Given the description of an element on the screen output the (x, y) to click on. 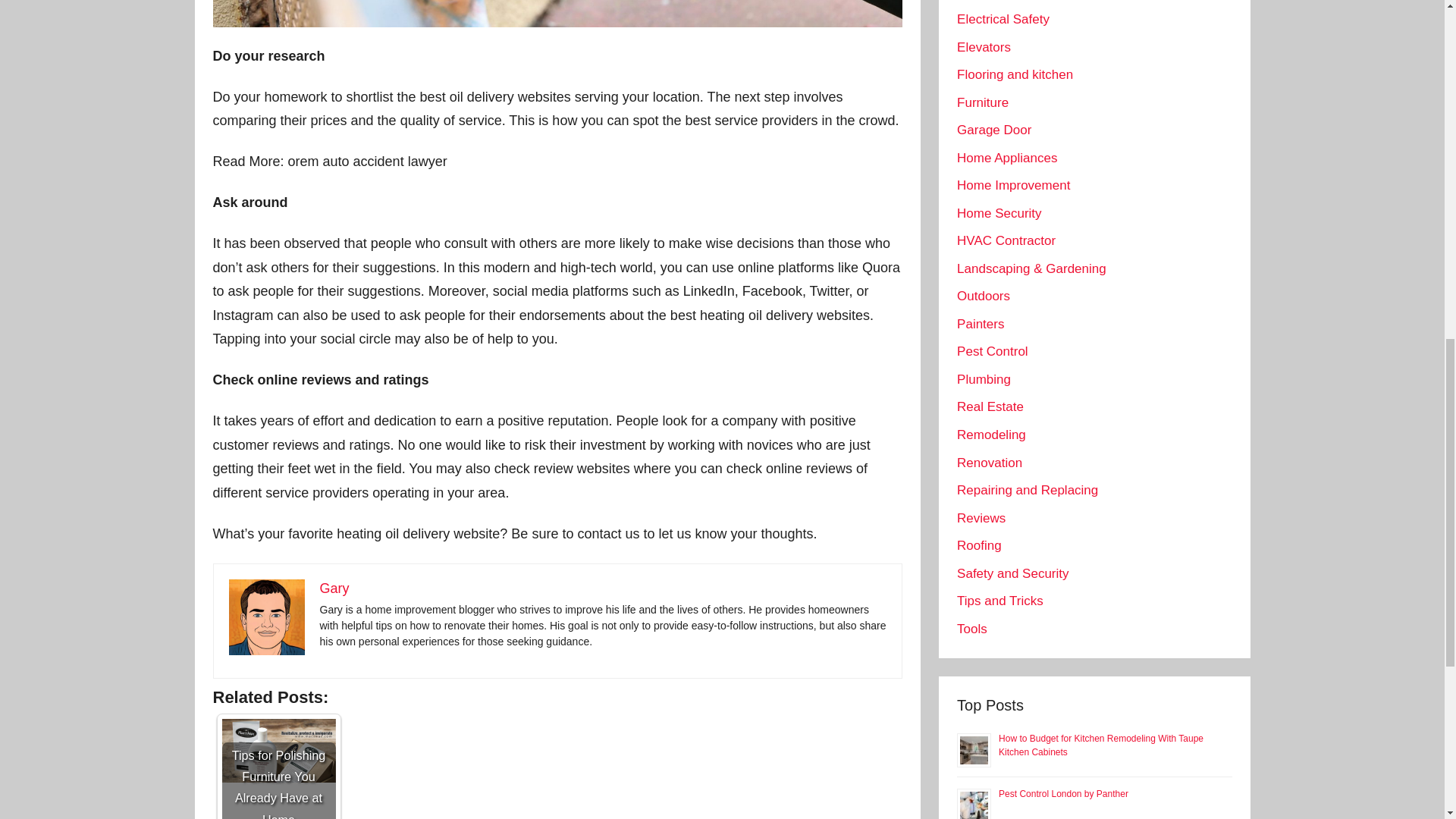
Tips for Polishing Furniture You Already Have at Home (277, 769)
Tips for Polishing Furniture You Already Have at Home (277, 750)
Where to Buy Home Heating Oil in CT (557, 13)
Gary Anderson (266, 617)
Gary (334, 588)
